Given the description of an element on the screen output the (x, y) to click on. 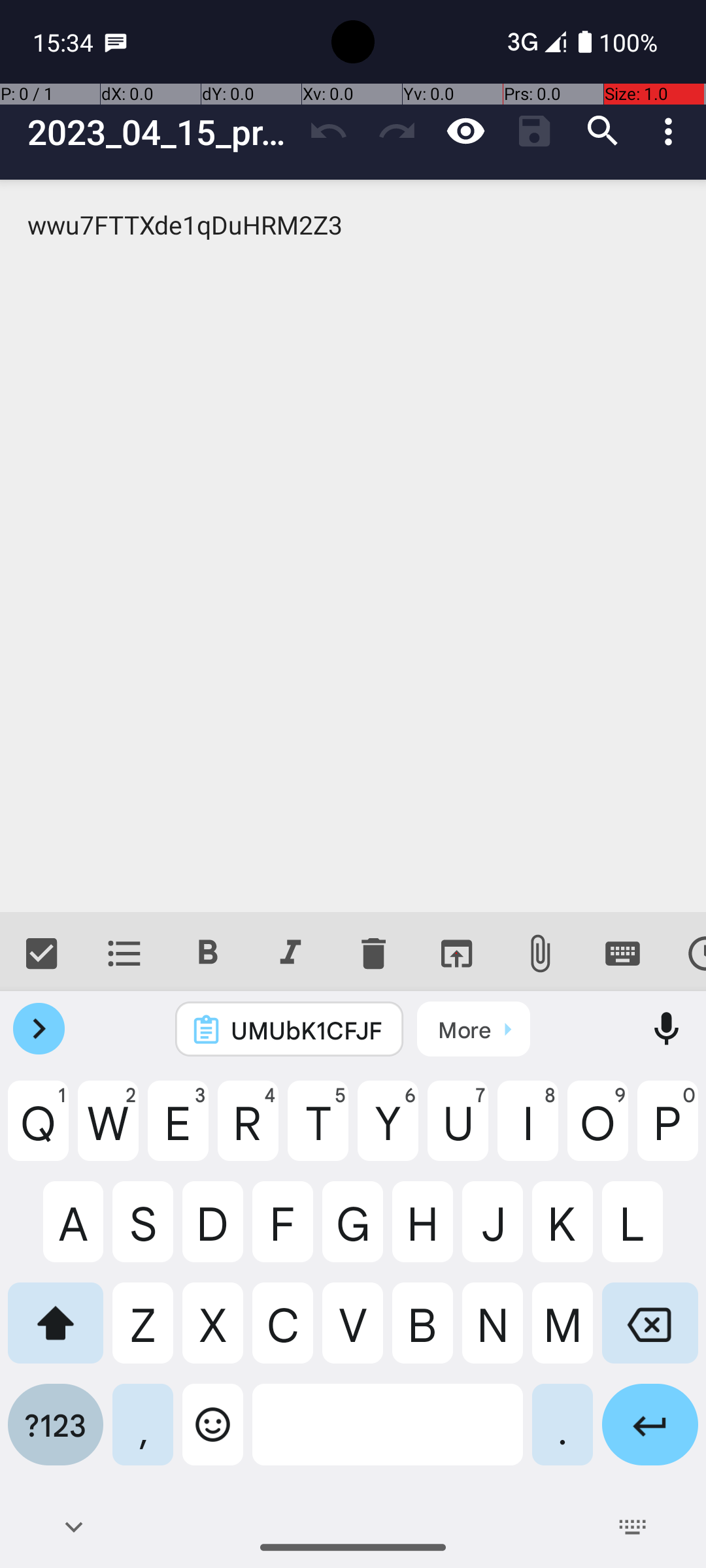
2023_04_15_proud_guitar Element type: android.widget.TextView (160, 131)
wwu7FTTXde1qDuHRM2Z3
 Element type: android.widget.EditText (353, 545)
UMUbK1CFJF Element type: android.widget.TextView (306, 1029)
